Given the description of an element on the screen output the (x, y) to click on. 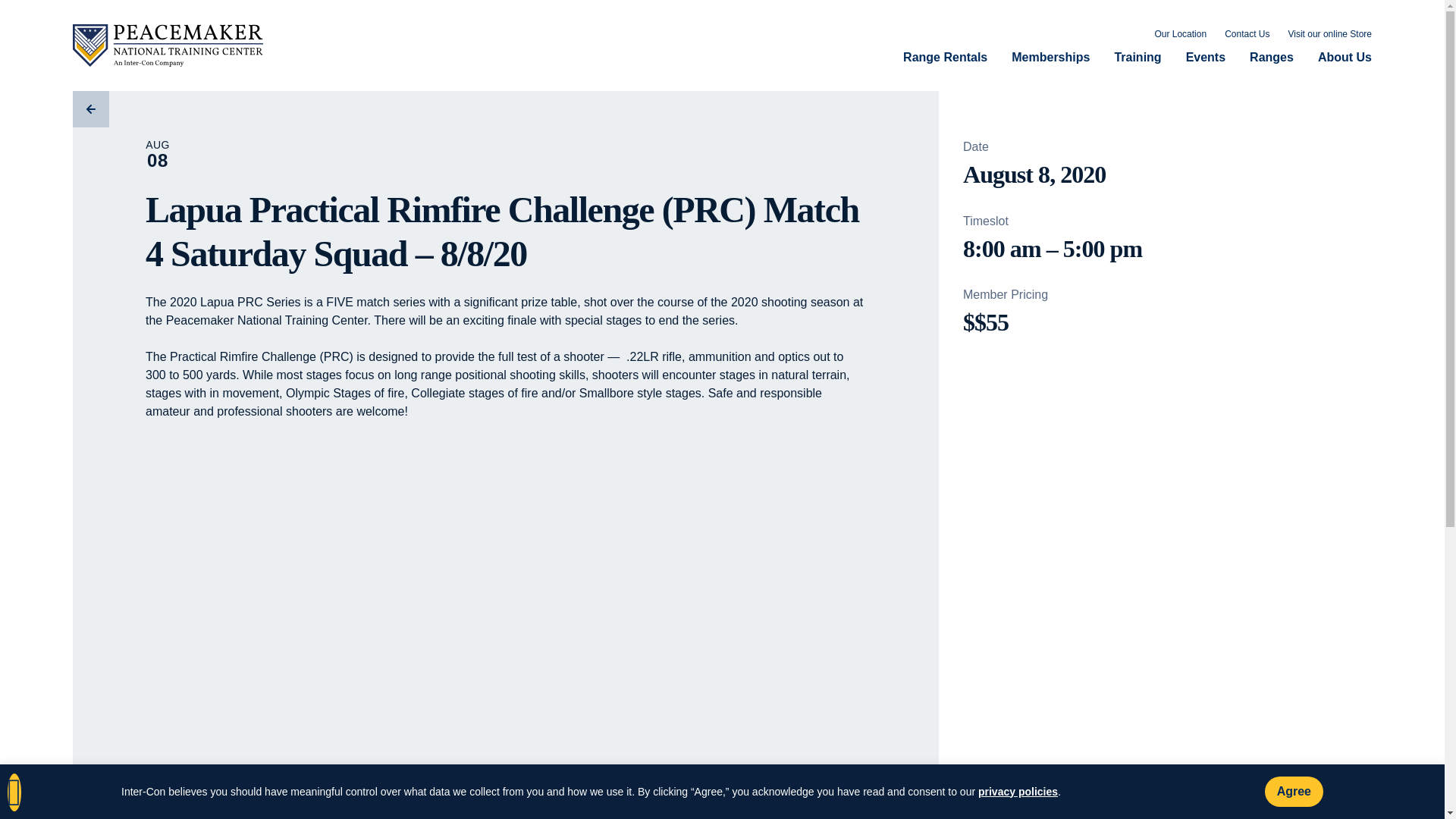
Contact Us (1246, 34)
Events (1205, 57)
Training (1136, 57)
2020-08-08 (1033, 174)
Visit our online Store (1329, 34)
Our Location (1180, 34)
About Us (1344, 57)
Range Rentals (944, 57)
Agree (1294, 791)
2020-08-08 (1155, 248)
Ranges (1271, 57)
privacy policies (1018, 791)
Memberships (1050, 57)
